Given the description of an element on the screen output the (x, y) to click on. 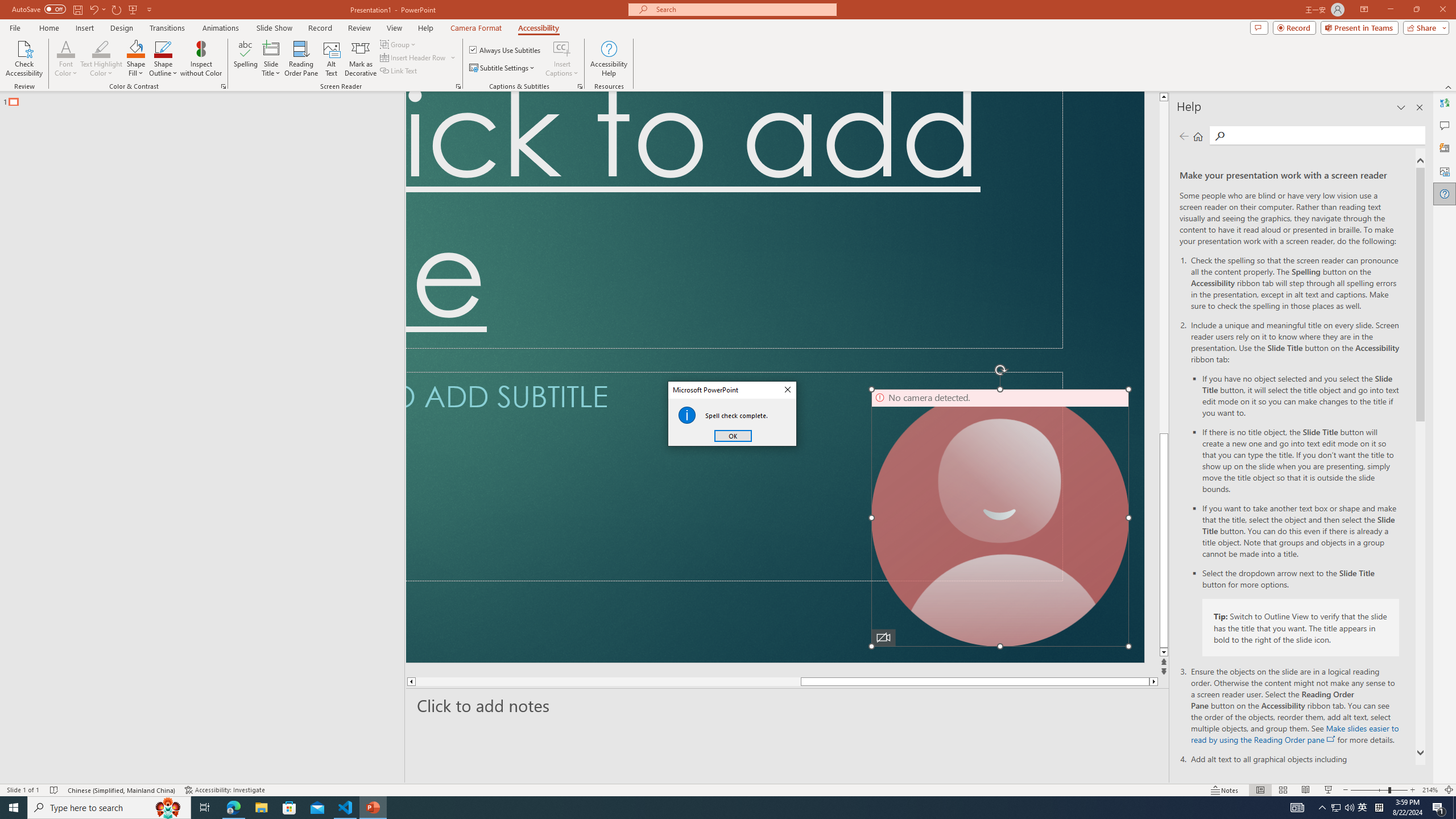
Group (398, 44)
